Given the description of an element on the screen output the (x, y) to click on. 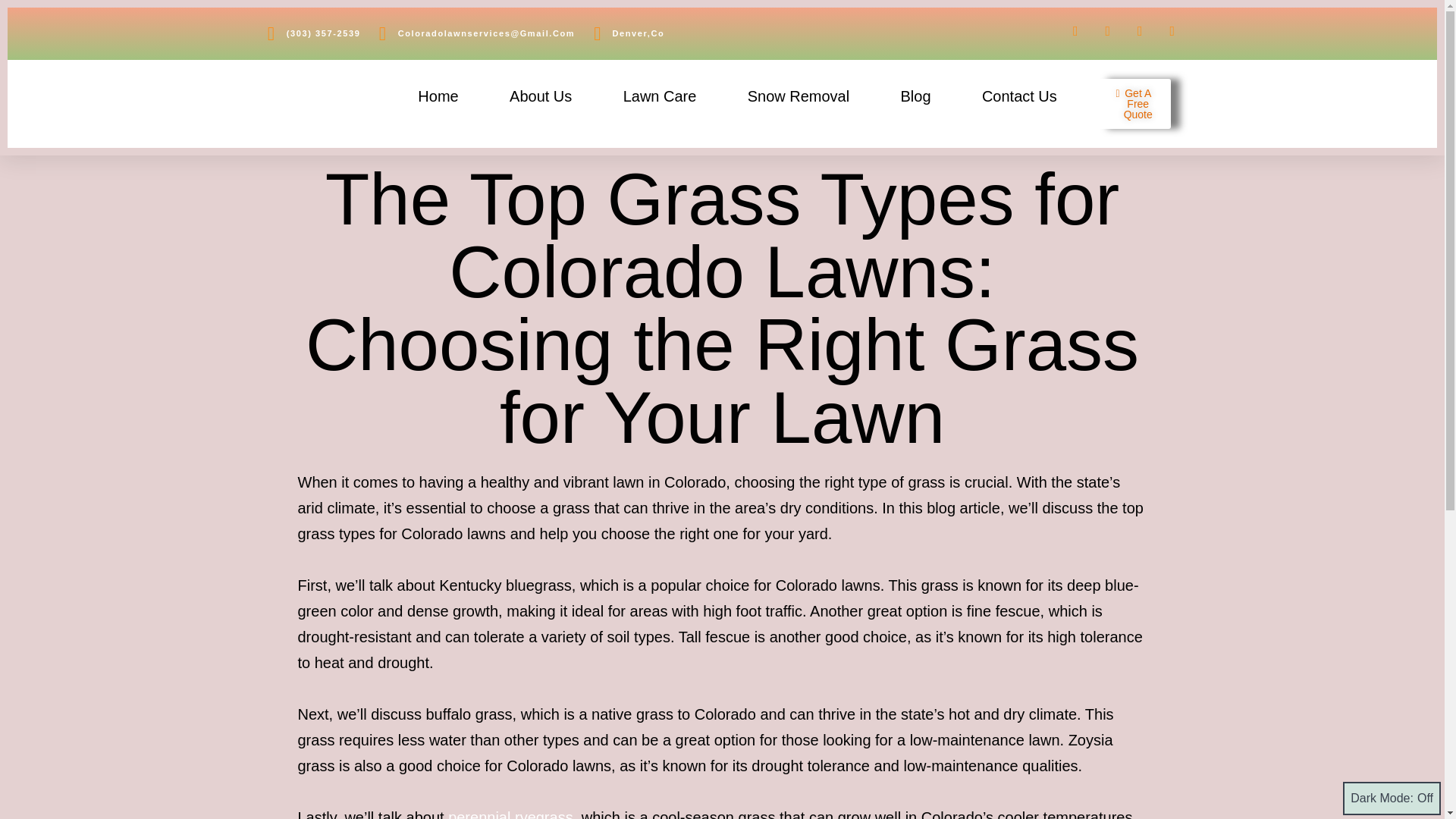
Get A Free Quote (1133, 103)
Home (438, 95)
Lawn Care (659, 95)
About Us (539, 95)
Snow Removal (798, 95)
Contact Us (1018, 95)
Blog (915, 95)
Dark Mode: (1391, 798)
perennial ryegrass (510, 814)
